Given the description of an element on the screen output the (x, y) to click on. 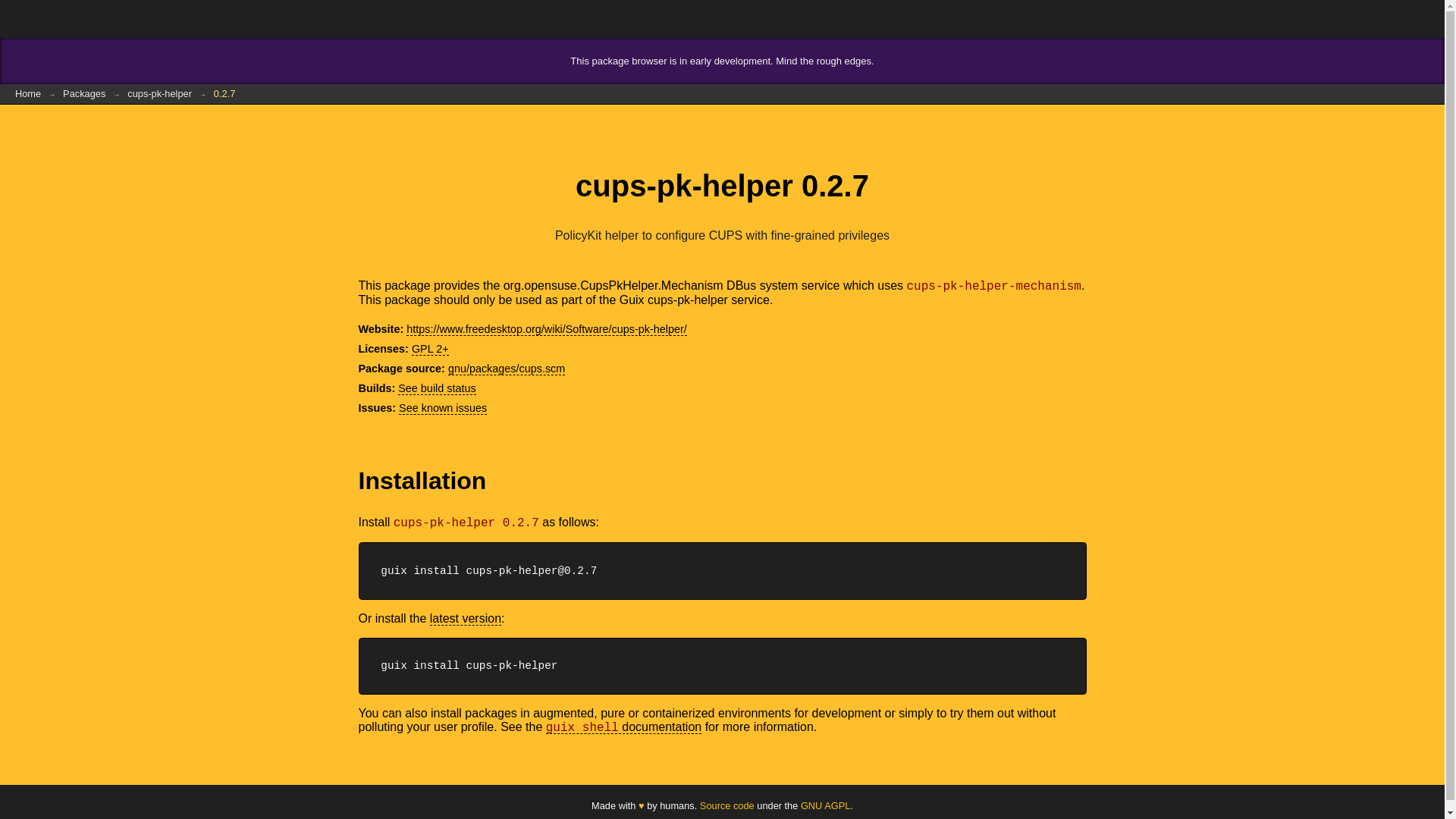
See known issues (442, 408)
GNU Guix (60, 18)
Packages (84, 94)
latest version (464, 617)
GNU AGPL (825, 805)
0.2.7 (223, 94)
guix shell documentation (623, 726)
cups-pk-helper (159, 94)
See build status (436, 388)
Home (28, 94)
Source code (727, 805)
